Given the description of an element on the screen output the (x, y) to click on. 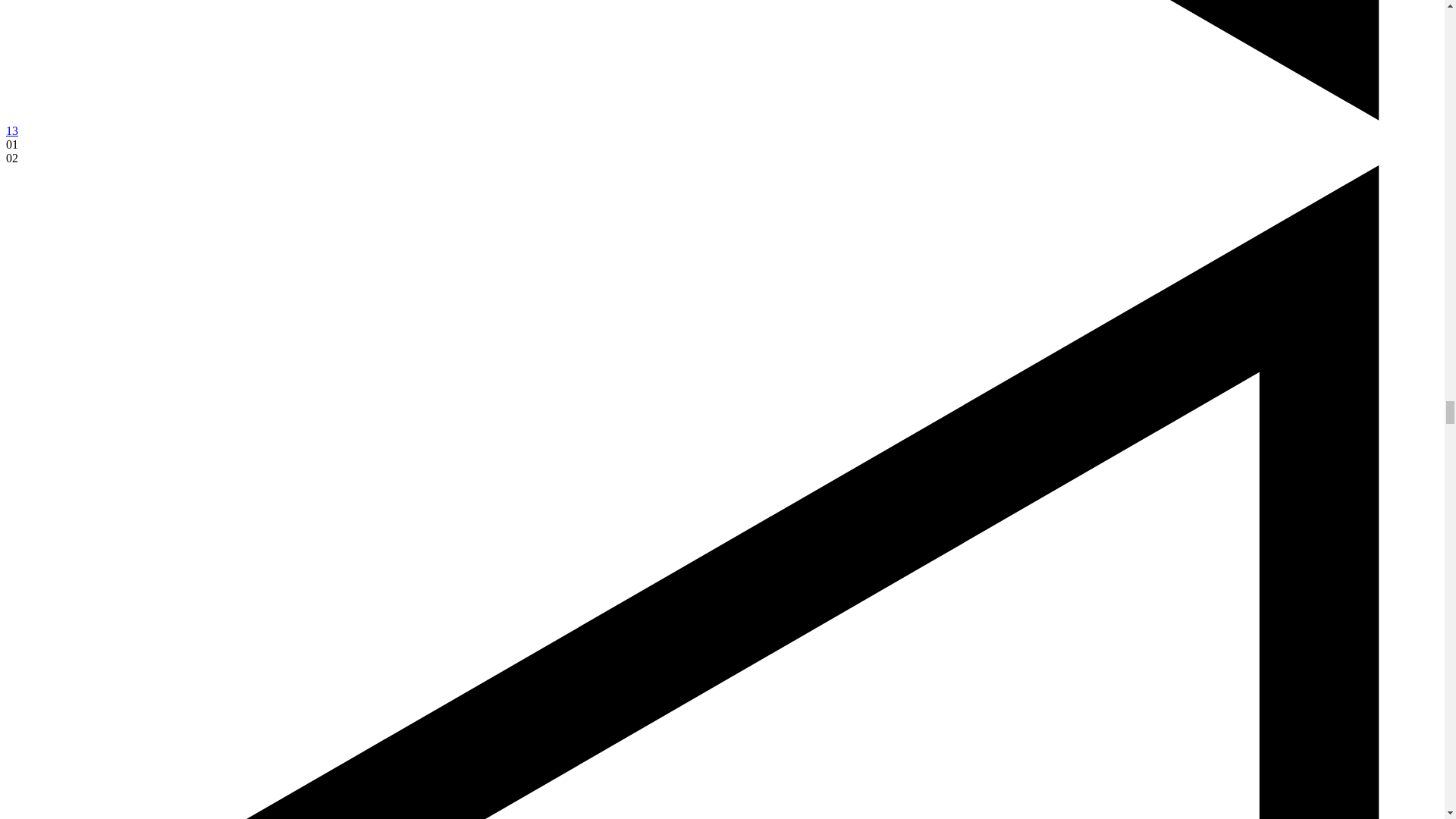
13 (11, 130)
